Given the description of an element on the screen output the (x, y) to click on. 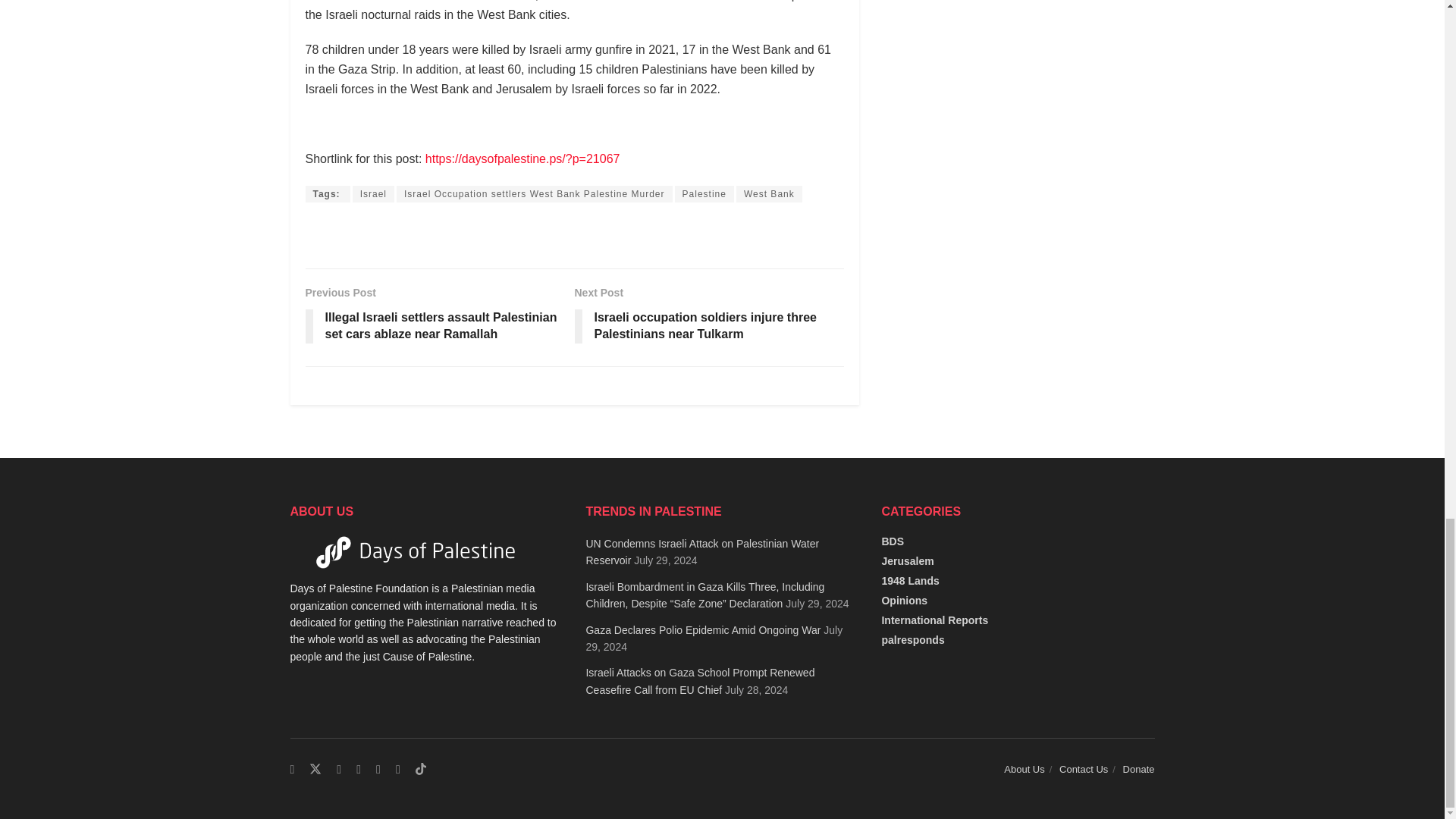
DCIP: Israel Killed 15 Palestinian Children in 2022 (522, 158)
DCIP: Israel Killed 15 Palestinian Children in 2022 (326, 193)
